Given the description of an element on the screen output the (x, y) to click on. 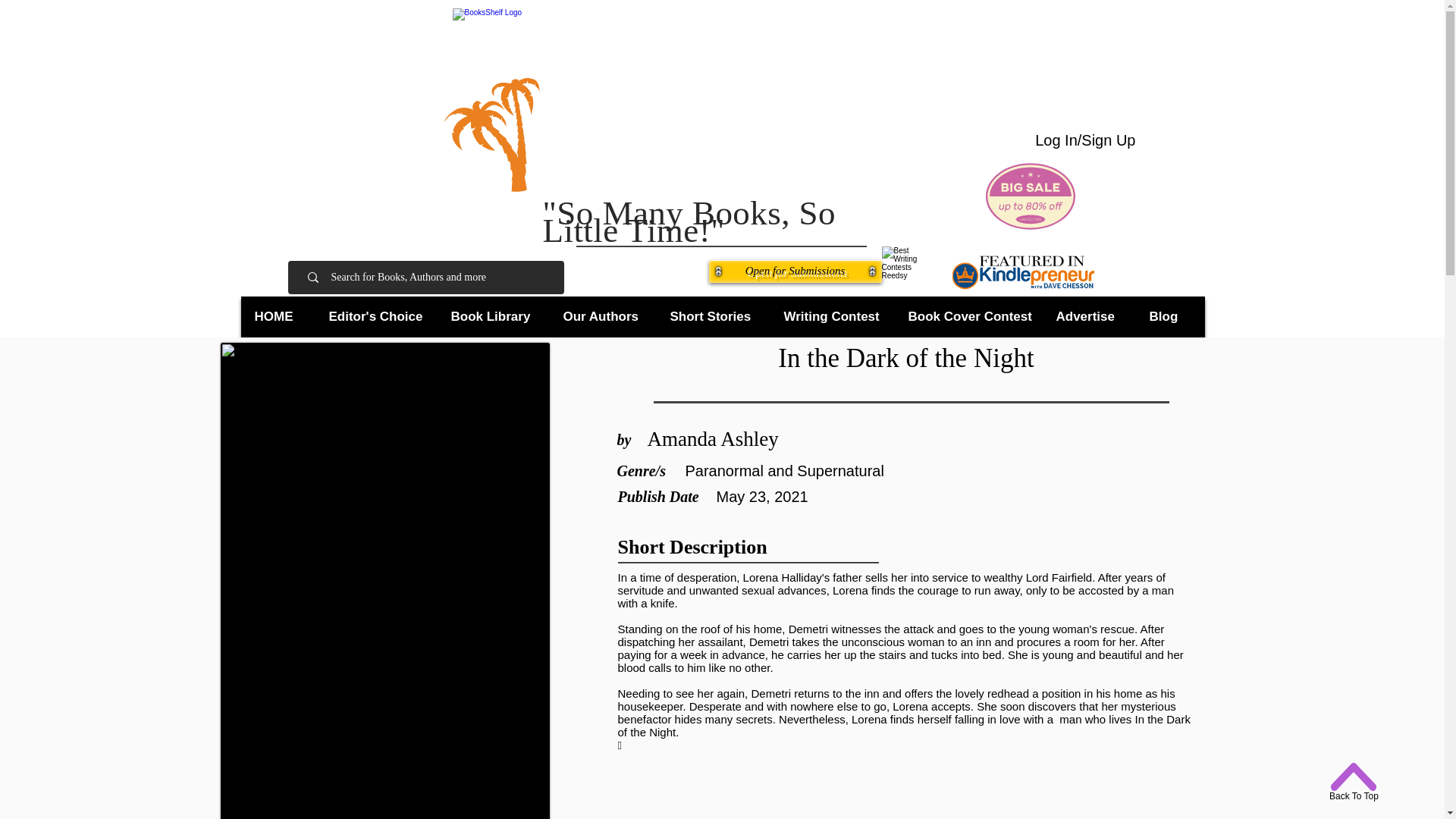
HOME (279, 316)
BooksShelf (705, 104)
Short Stories (714, 316)
Editor's Choice (378, 316)
